Given the description of an element on the screen output the (x, y) to click on. 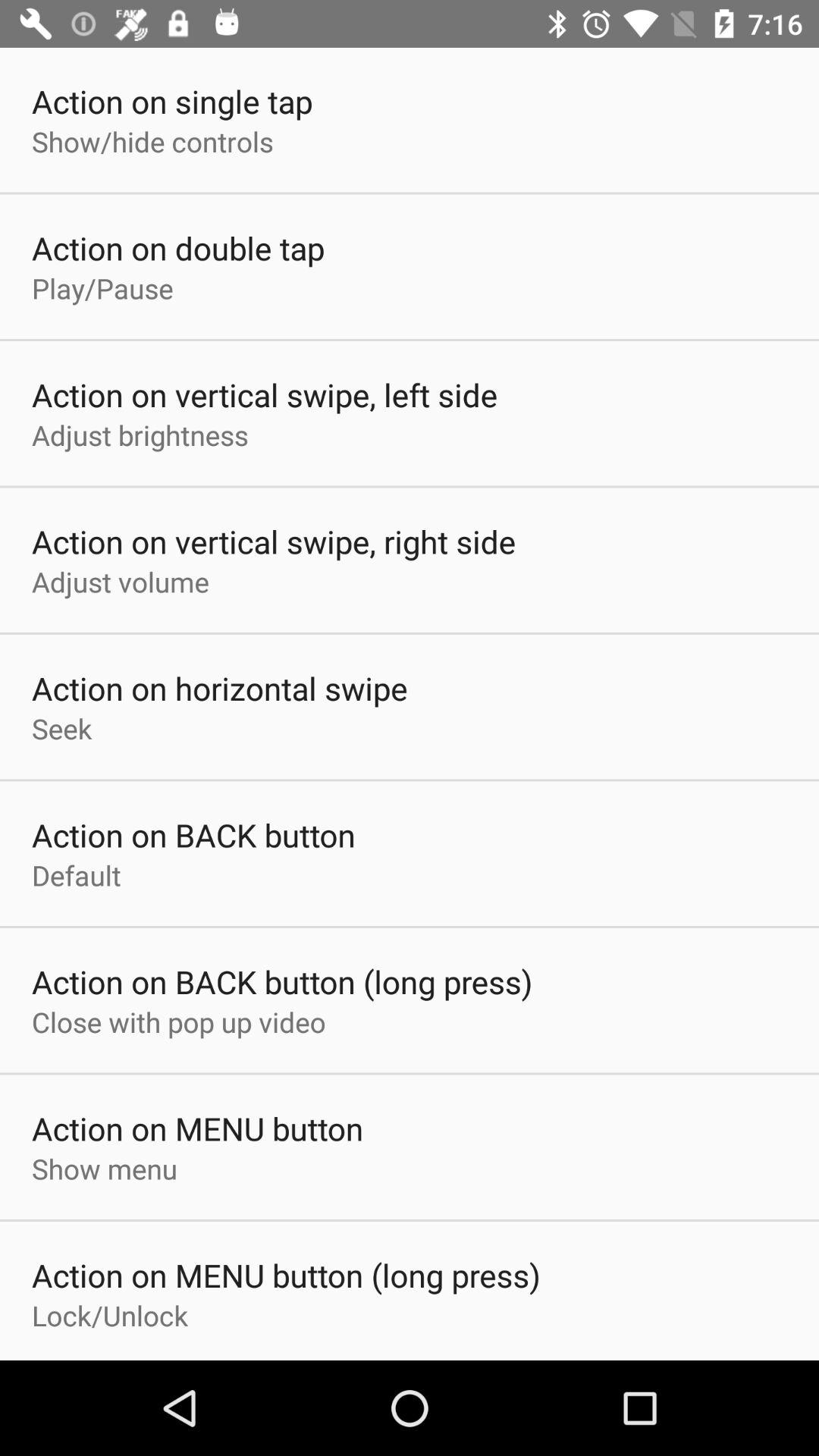
flip until seek icon (61, 728)
